Given the description of an element on the screen output the (x, y) to click on. 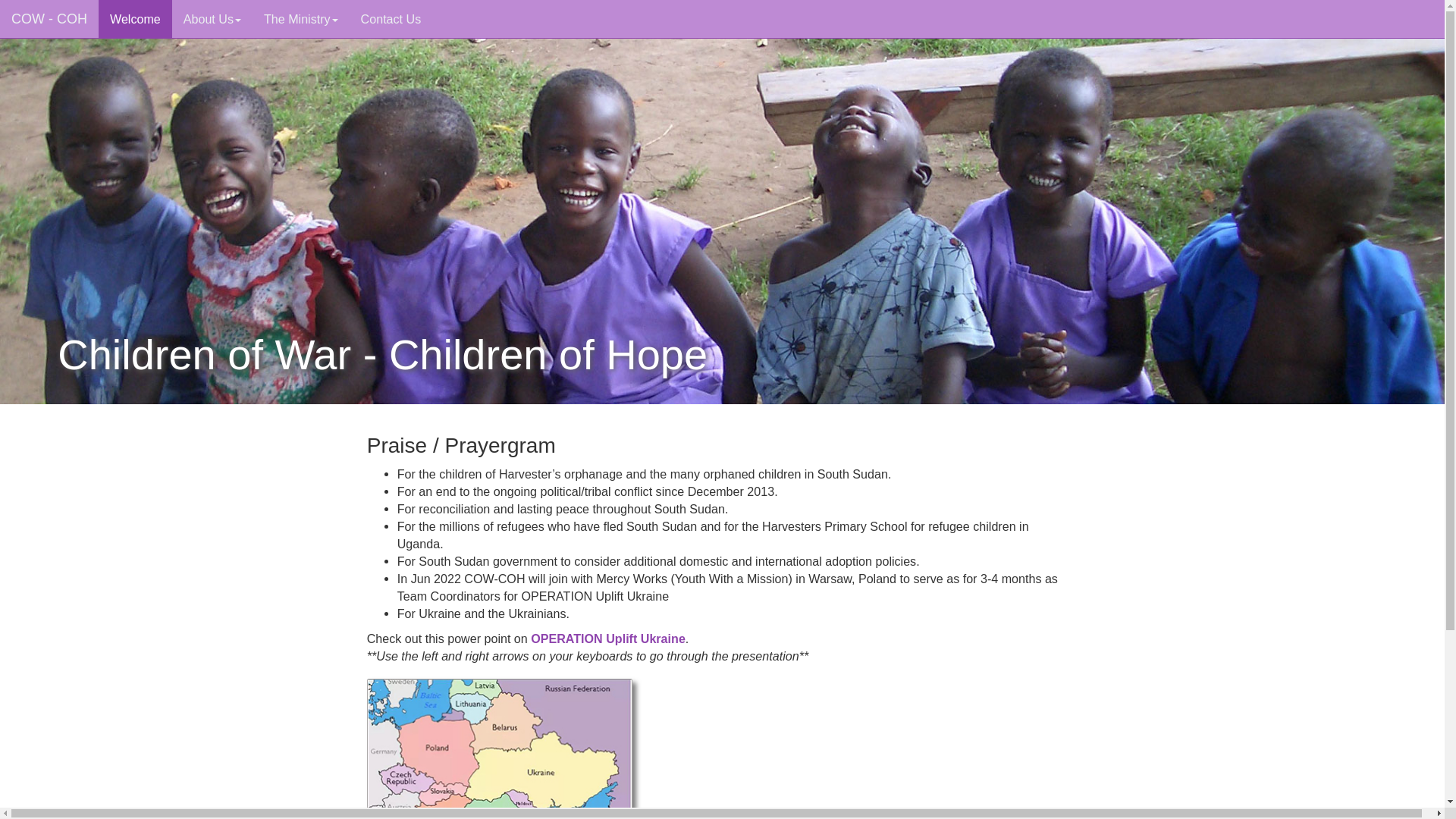
OPERATION Uplift Ukraine (608, 638)
The Ministry (300, 18)
Contact Us (390, 18)
COW - COH (49, 18)
About Us (211, 18)
